Given the description of an element on the screen output the (x, y) to click on. 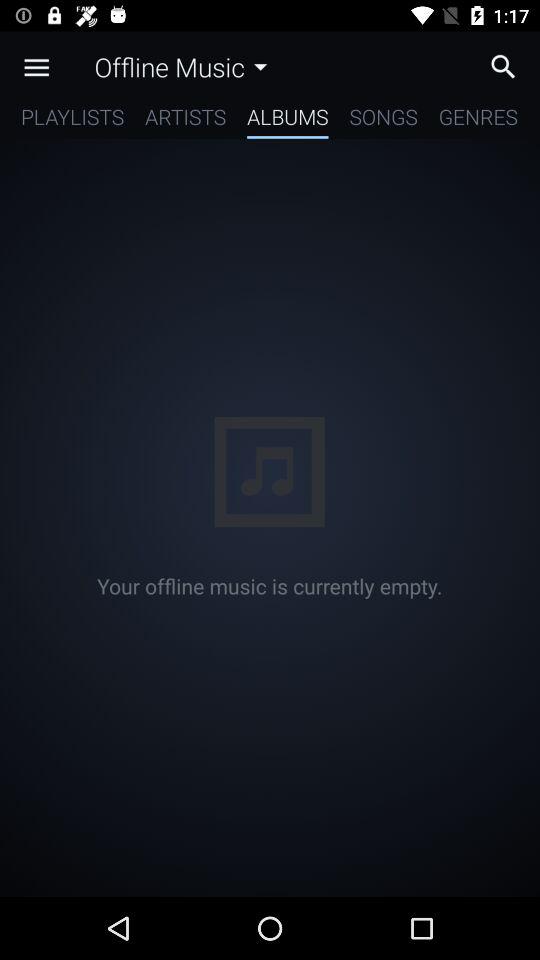
select item to the left of the genres (383, 120)
